Given the description of an element on the screen output the (x, y) to click on. 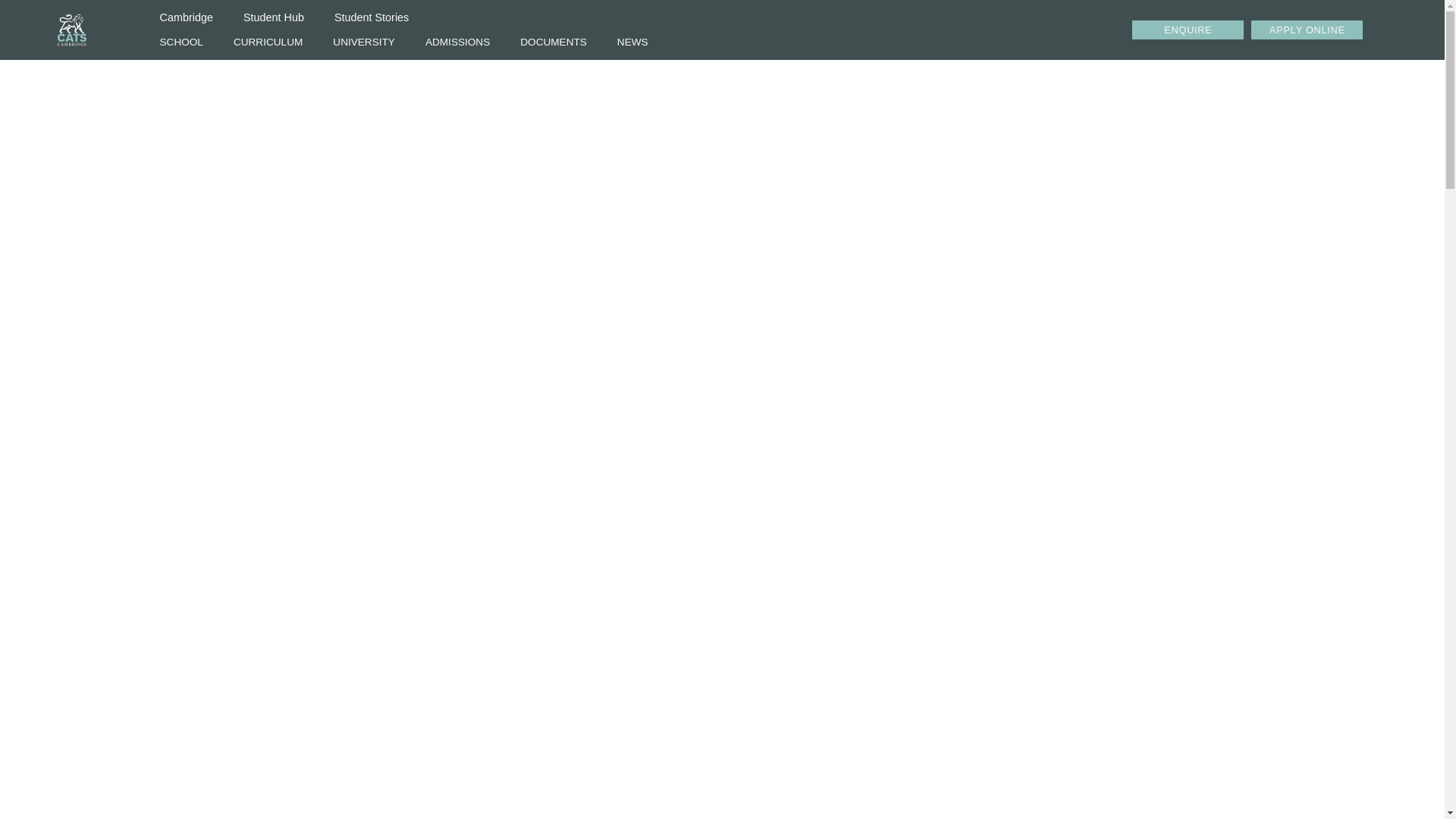
ADMISSIONS (457, 42)
SCHOOL (180, 42)
CURRICULUM (267, 42)
UNIVERSITY (363, 42)
Student Stories (370, 17)
DOCUMENTS (553, 42)
Cambridge (185, 17)
Student Hub (273, 17)
